Given the description of an element on the screen output the (x, y) to click on. 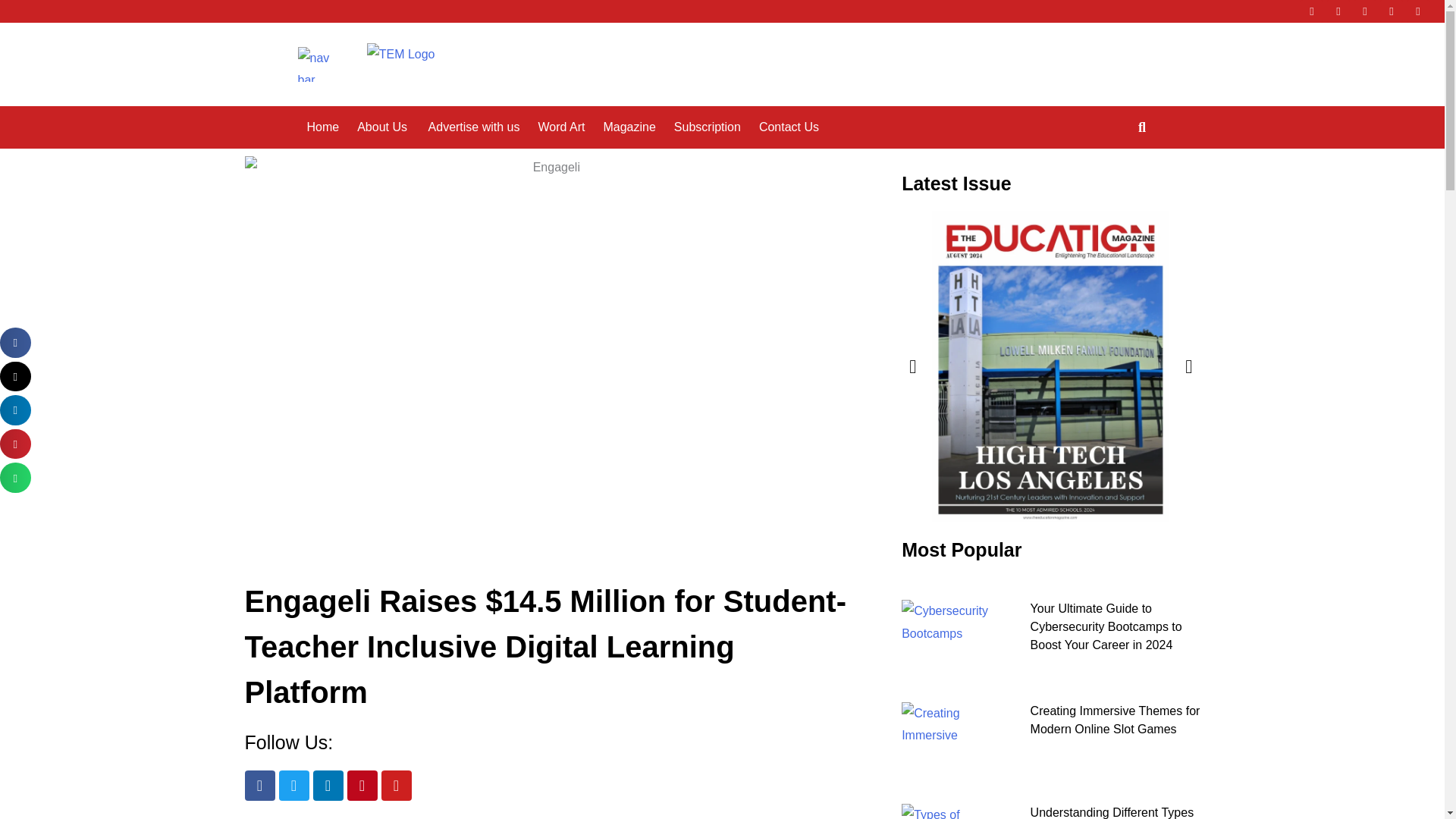
Magazine (576, 91)
About Us (331, 91)
Home (322, 127)
About Us (381, 127)
Word Art (561, 127)
Linkedin (327, 785)
Subscription (707, 127)
Twitter (1337, 11)
Youtube (395, 785)
Contact Us (736, 91)
